Given the description of an element on the screen output the (x, y) to click on. 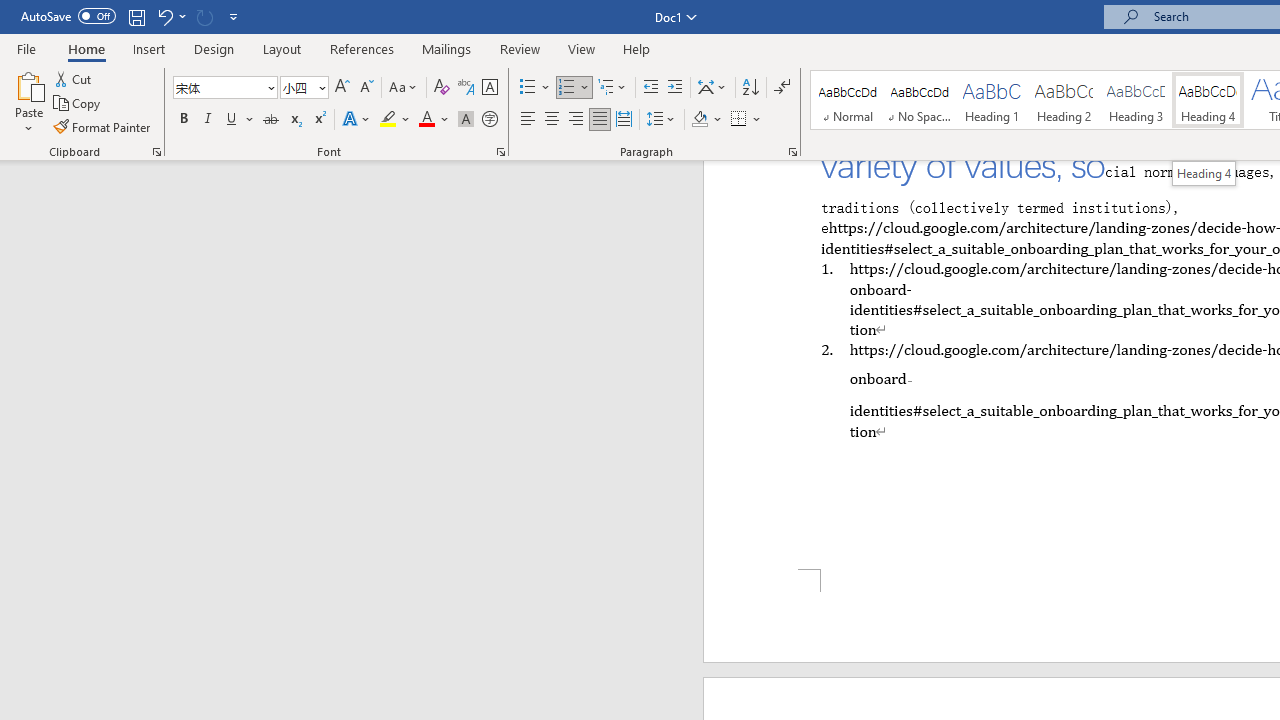
Font (224, 87)
Heading 4 (1204, 173)
Strikethrough (270, 119)
Underline (232, 119)
Font Color Automatic (426, 119)
Undo Apply Quick Style (170, 15)
Text Highlight Color Yellow (388, 119)
Justify (599, 119)
Align Left (527, 119)
Bold (183, 119)
Heading 2 (1063, 100)
Sort... (750, 87)
Insert (149, 48)
Paste (28, 102)
